Given the description of an element on the screen output the (x, y) to click on. 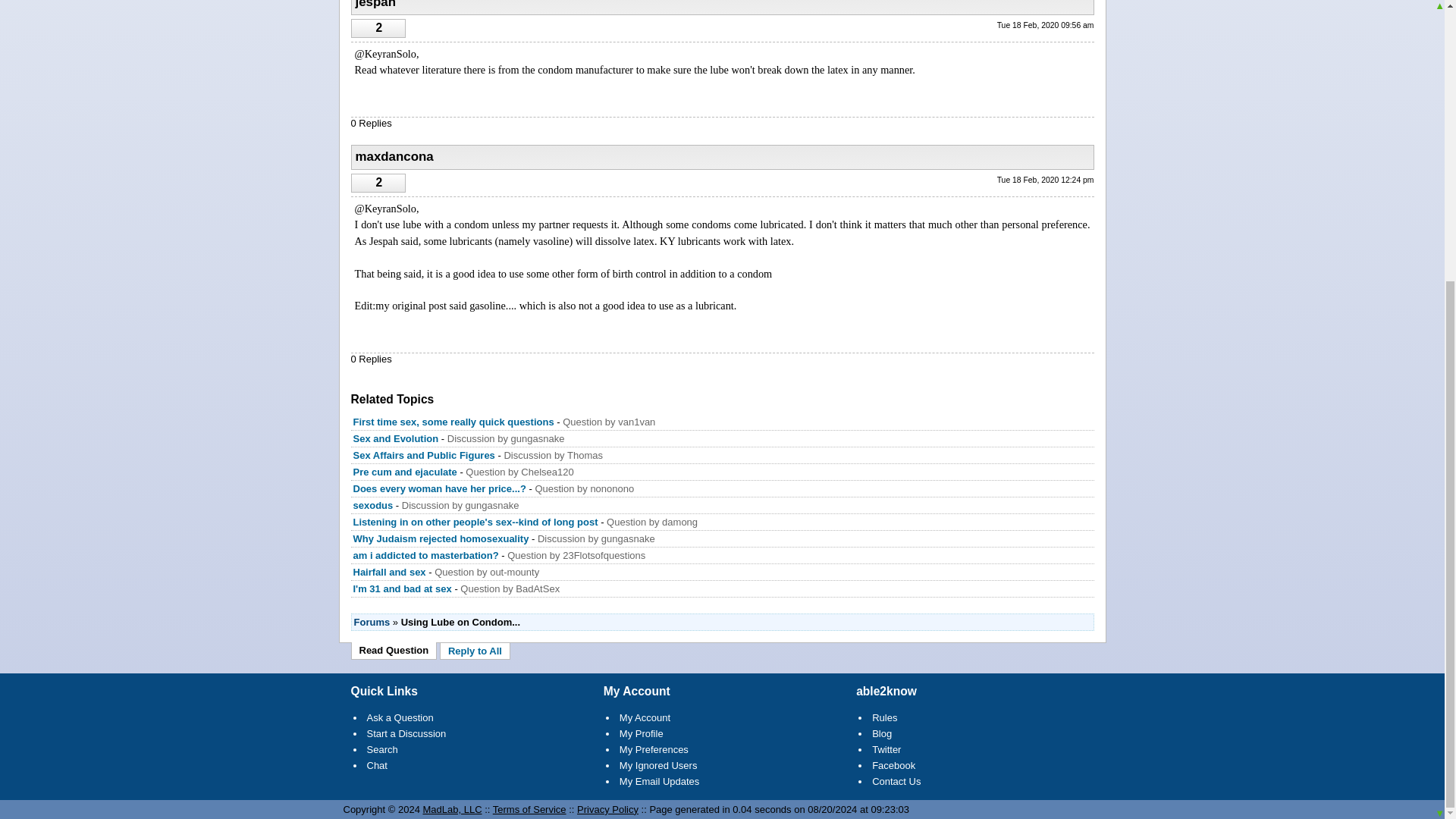
Does every woman have her price...? (439, 488)
Sex Affairs and Public Figures (424, 455)
Pre cum and ejaculate (406, 471)
Forums (371, 622)
Ask a Question (399, 717)
Reply to All (475, 651)
Sex and Evolution (396, 438)
Start a Discussion (406, 733)
Why Judaism rejected homosexuality (441, 538)
Listening in on other people's sex--kind of long post (475, 521)
